Given the description of an element on the screen output the (x, y) to click on. 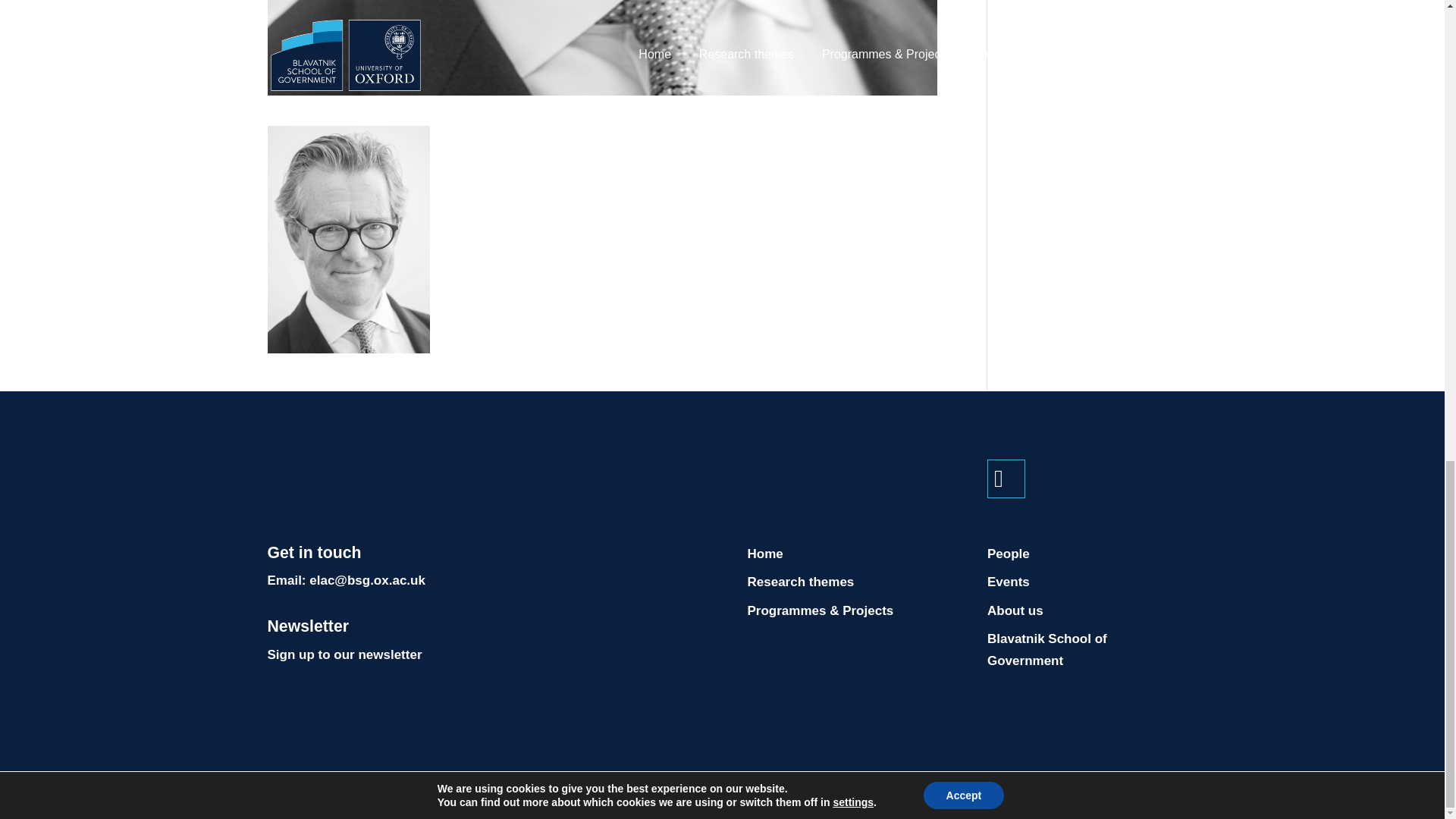
Sign up to our newsletter (344, 654)
People (1008, 554)
Website by Herd (661, 784)
Research themes (801, 581)
Blavatnik School of Government (1046, 649)
Events (1008, 581)
Home (765, 554)
About us (1015, 610)
Cookies (579, 784)
